Given the description of an element on the screen output the (x, y) to click on. 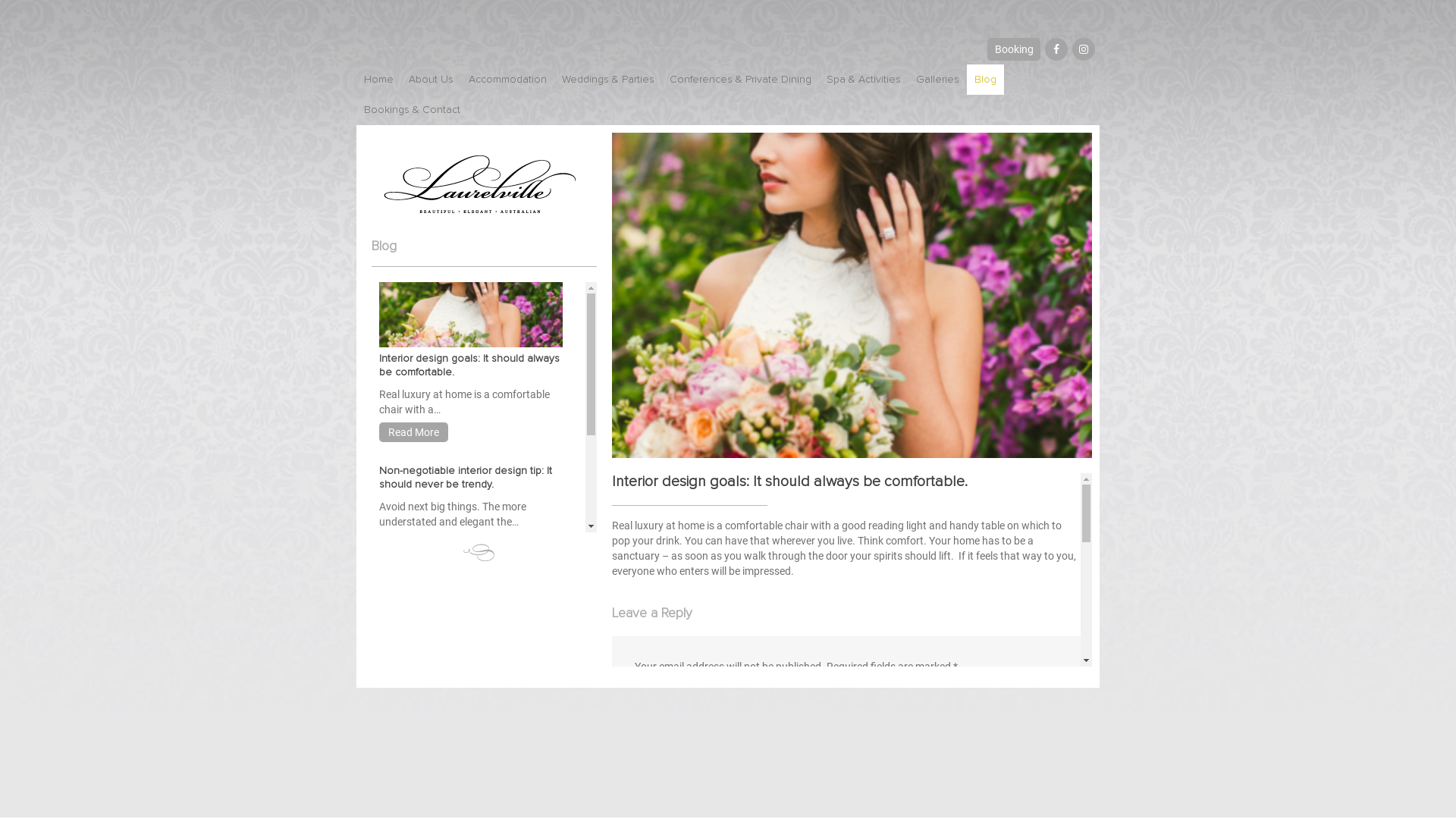
Blog Element type: text (985, 79)
Home Element type: text (378, 79)
Booking Element type: text (1013, 48)
About Us Element type: text (431, 79)
Galleries Element type: text (937, 79)
Read More Element type: text (413, 544)
Read More Element type: text (413, 432)
Conferences & Private Dining Element type: text (740, 79)
Read More Element type: text (413, 657)
Accommodation Element type: text (507, 79)
Bookings & Contact Element type: text (411, 109)
Interior design goals: It should always be comfortable. Element type: text (469, 365)
LaurelVille Manor Element type: hover (480, 184)
Weddings & Parties Element type: text (608, 79)
Spa & Activities Element type: text (863, 79)
Manners, interiors, occasions and fashion Element type: text (459, 589)
